Given the description of an element on the screen output the (x, y) to click on. 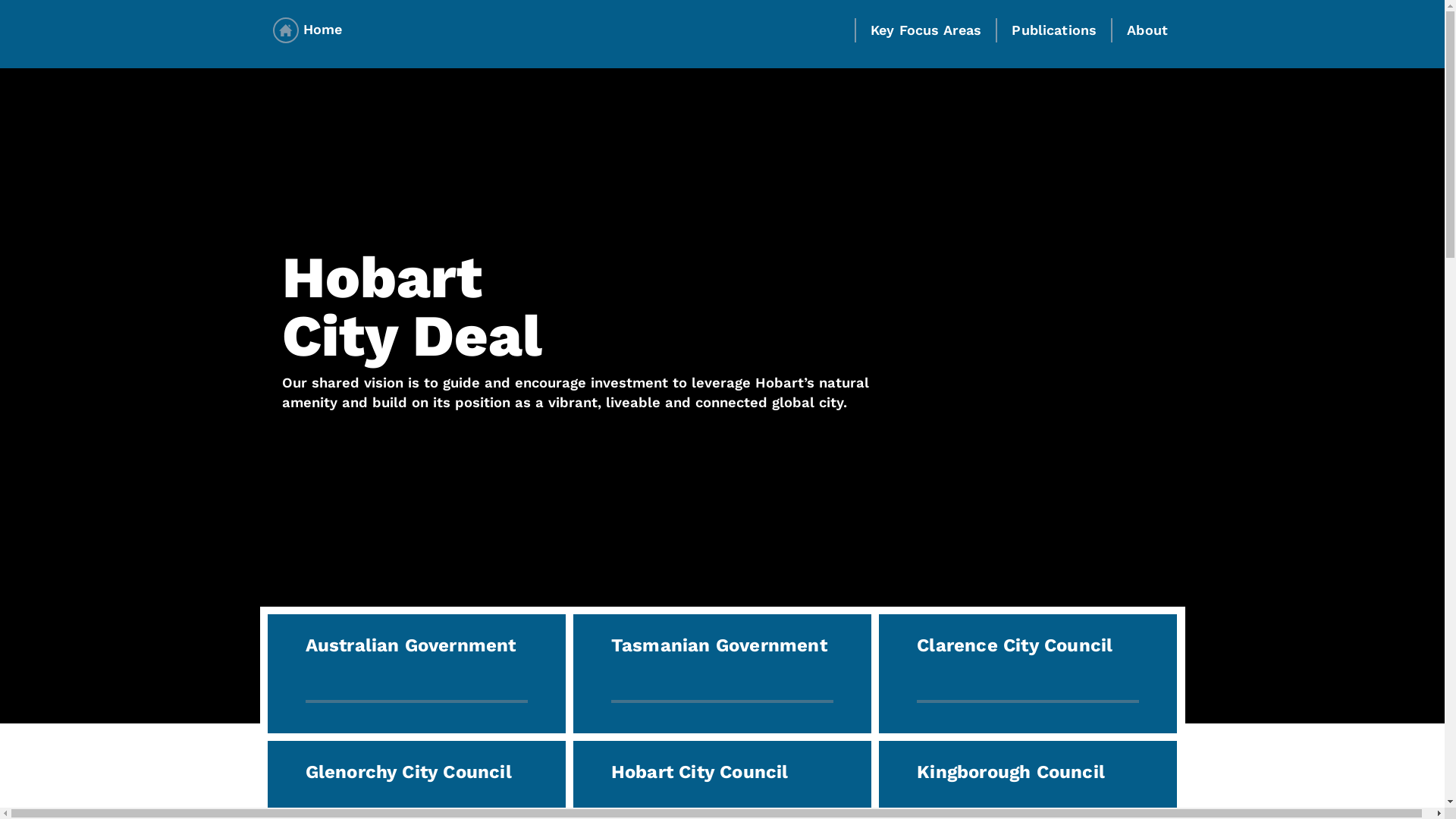
Publications Element type: text (1053, 38)
More about Clarence City Council Element type: text (1027, 673)
About Element type: text (1147, 38)
home main static Home Element type: text (307, 29)
More about Tasmanian Government Element type: text (722, 673)
More about Australian Government Element type: text (415, 673)
Key Focus Areas Element type: text (925, 38)
